Given the description of an element on the screen output the (x, y) to click on. 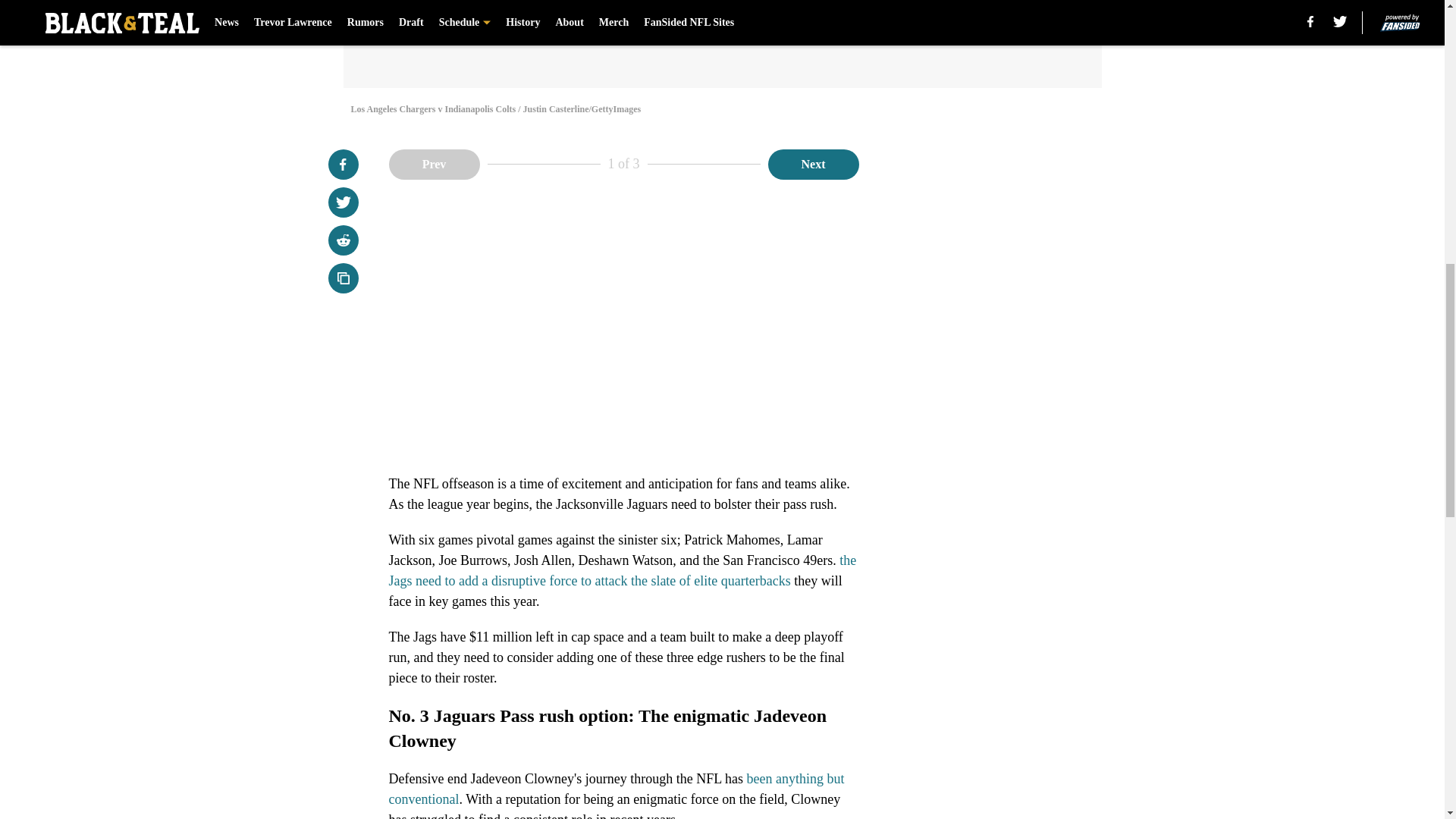
Next (813, 163)
been anything but conventional (616, 788)
Los Angeles Chargers v Indianapolis Colts (721, 43)
Prev (433, 163)
